Given the description of an element on the screen output the (x, y) to click on. 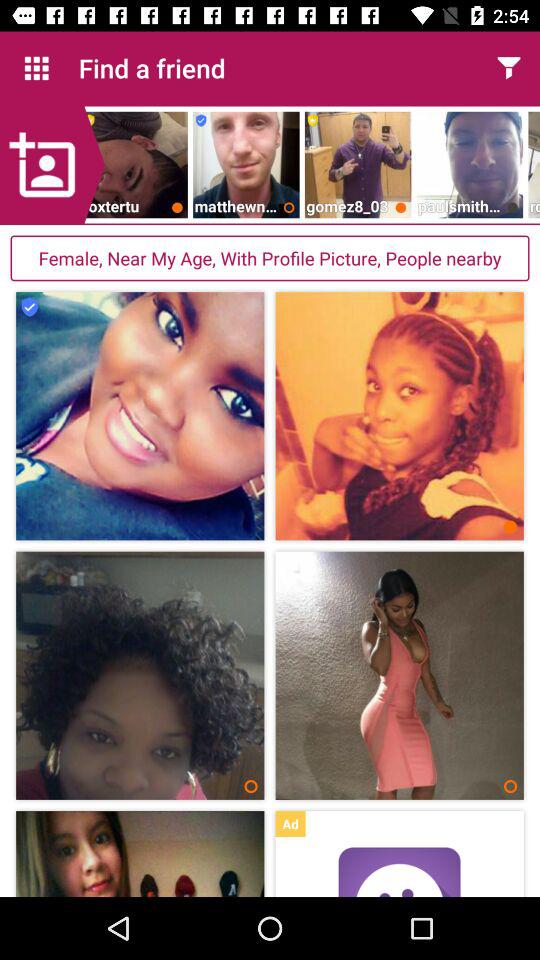
select the icon next to the find a friend icon (36, 68)
